Given the description of an element on the screen output the (x, y) to click on. 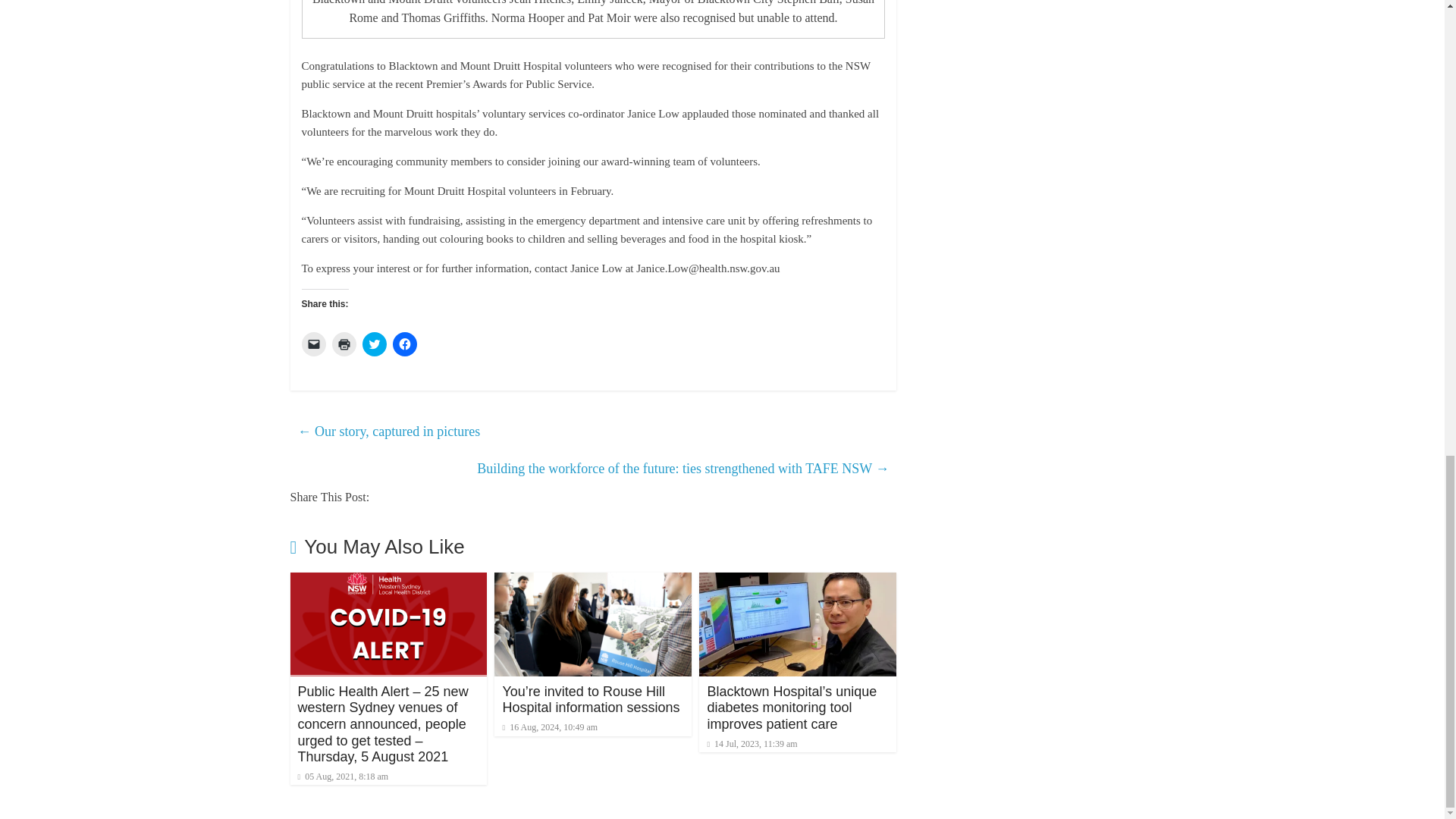
05 Aug, 2021, 8:18 am (342, 776)
Click to print (343, 344)
Click to share on Twitter (374, 344)
Click to email a link to a friend (313, 344)
